Given the description of an element on the screen output the (x, y) to click on. 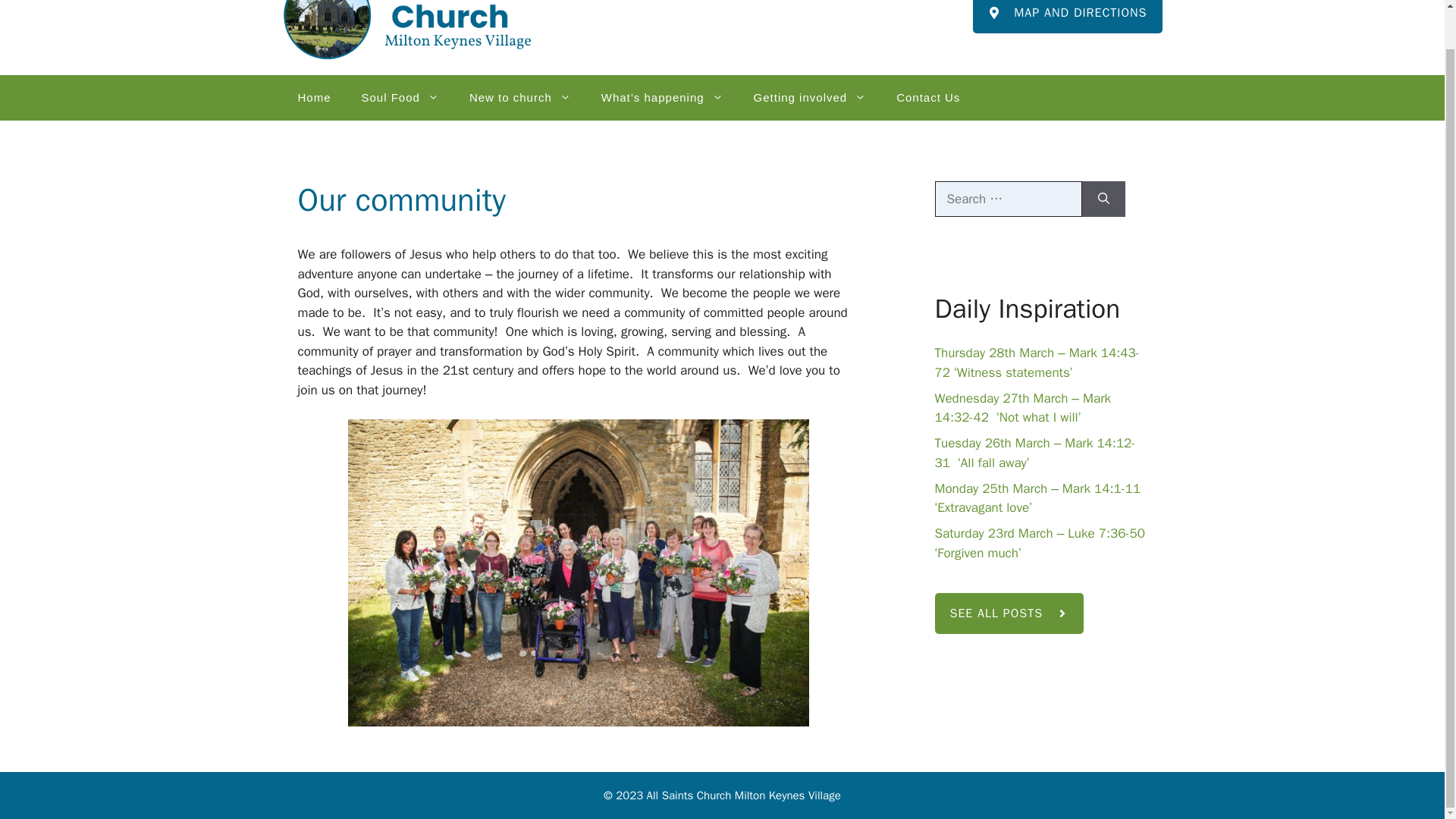
Search for: (1007, 198)
Getting involved (810, 97)
New to church (520, 97)
Home (314, 97)
Soul Food (400, 97)
Contact Us (927, 97)
MAP AND DIRECTIONS (1066, 16)
SEE ALL POSTS (1008, 612)
